Given the description of an element on the screen output the (x, y) to click on. 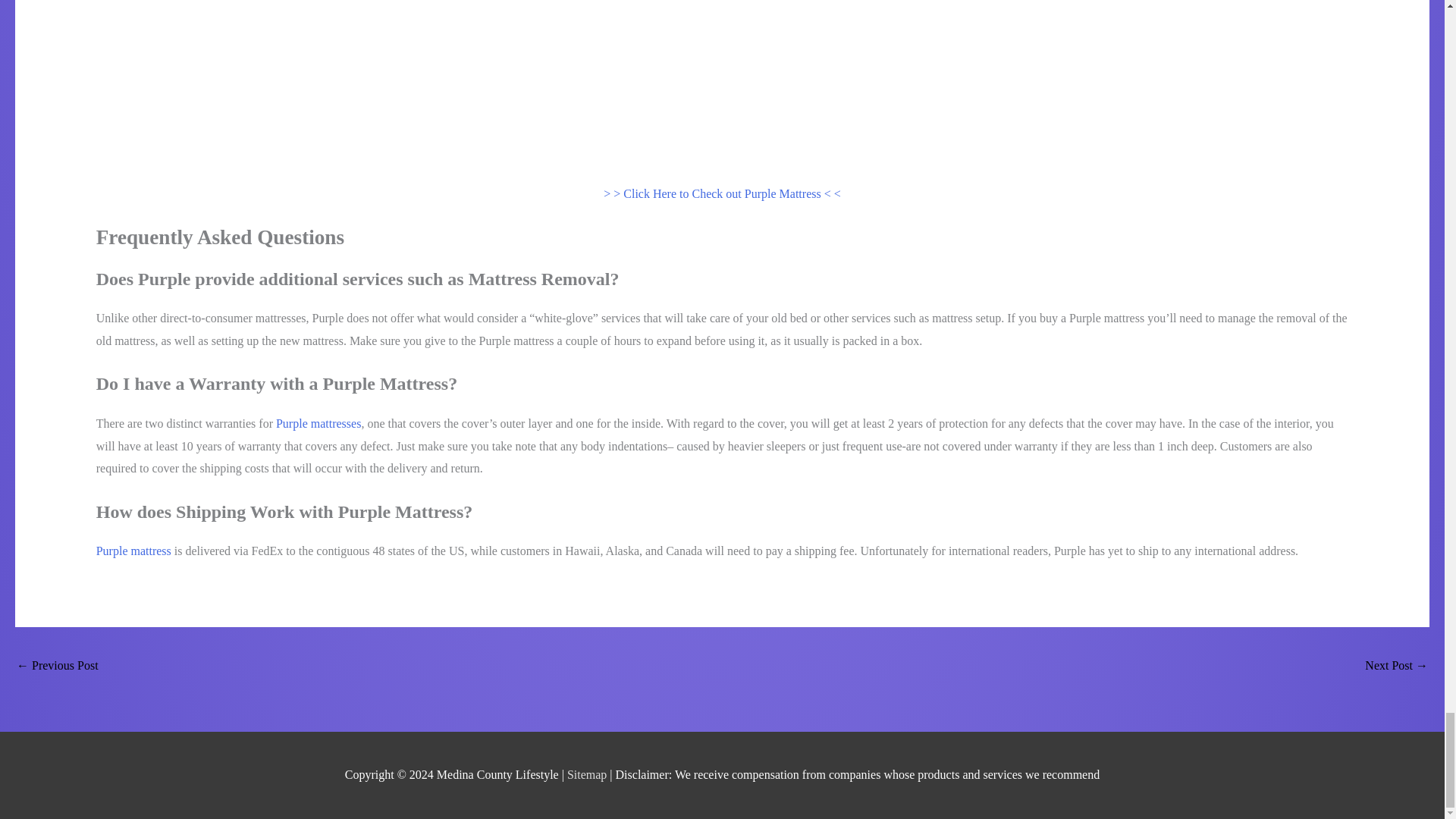
Sitemap (588, 774)
Purple mattress (133, 550)
How Long Until I Can Sleep On My Purple Mattress (57, 666)
Purple mattresses (318, 422)
Is The New Purple Mattress Worth The Hoopla (1396, 666)
